Given the description of an element on the screen output the (x, y) to click on. 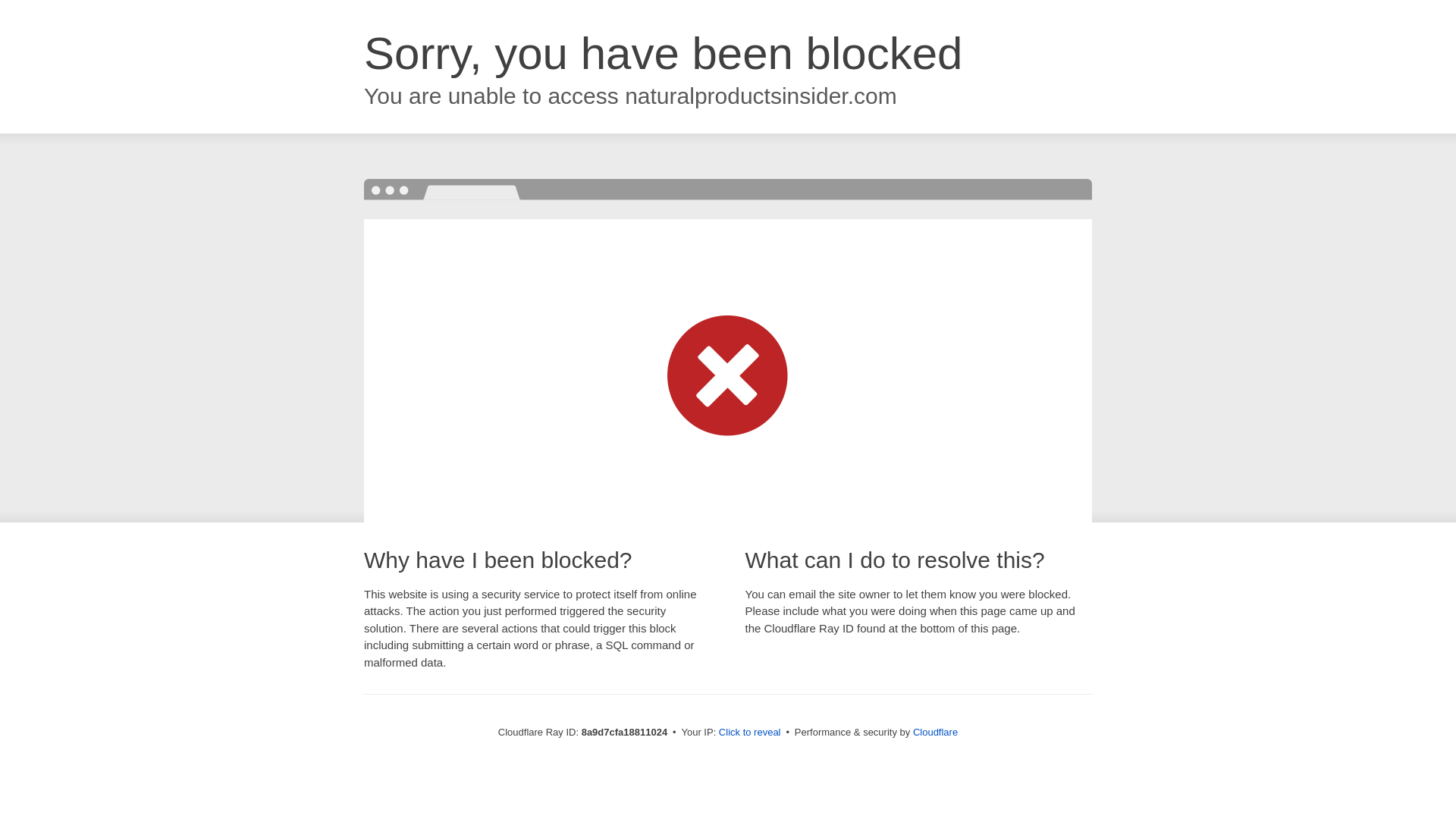
Click to reveal (749, 732)
Cloudflare (935, 731)
